Given the description of an element on the screen output the (x, y) to click on. 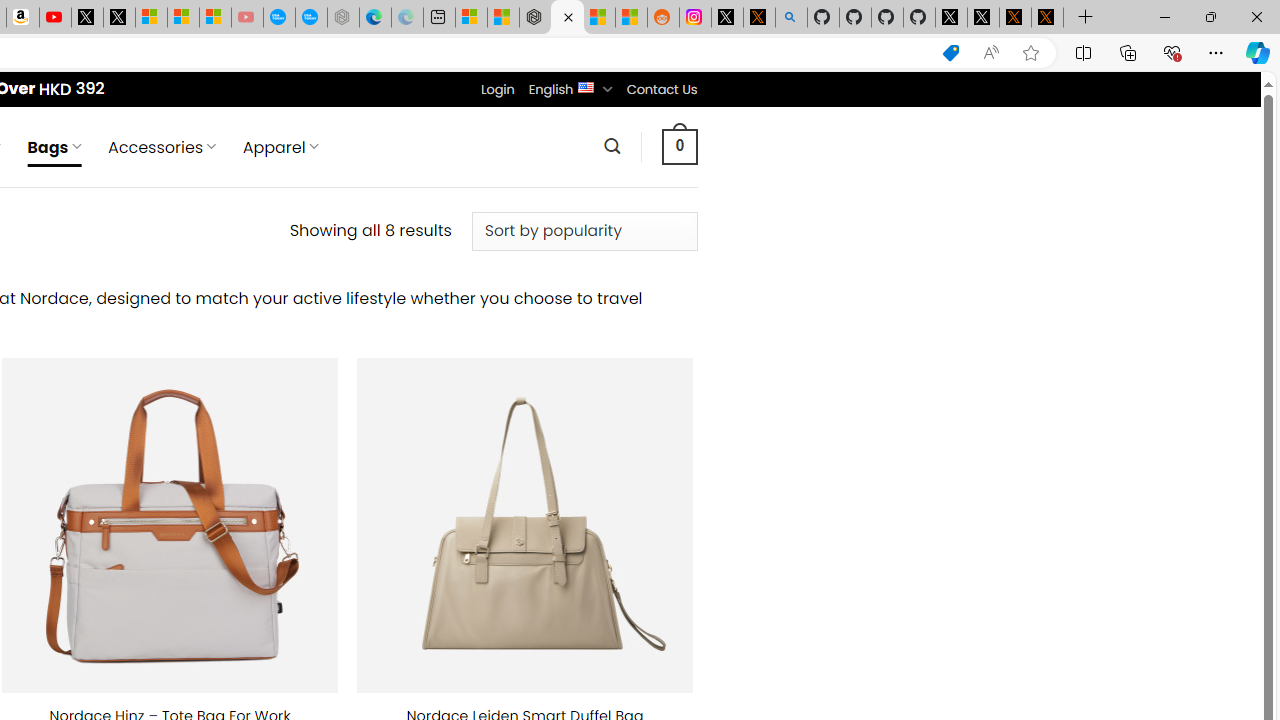
Gloom - YouTube - Sleeping (246, 17)
Log in to X / X (727, 17)
The most popular Google 'how to' searches (310, 17)
Profile / X (950, 17)
